Given the description of an element on the screen output the (x, y) to click on. 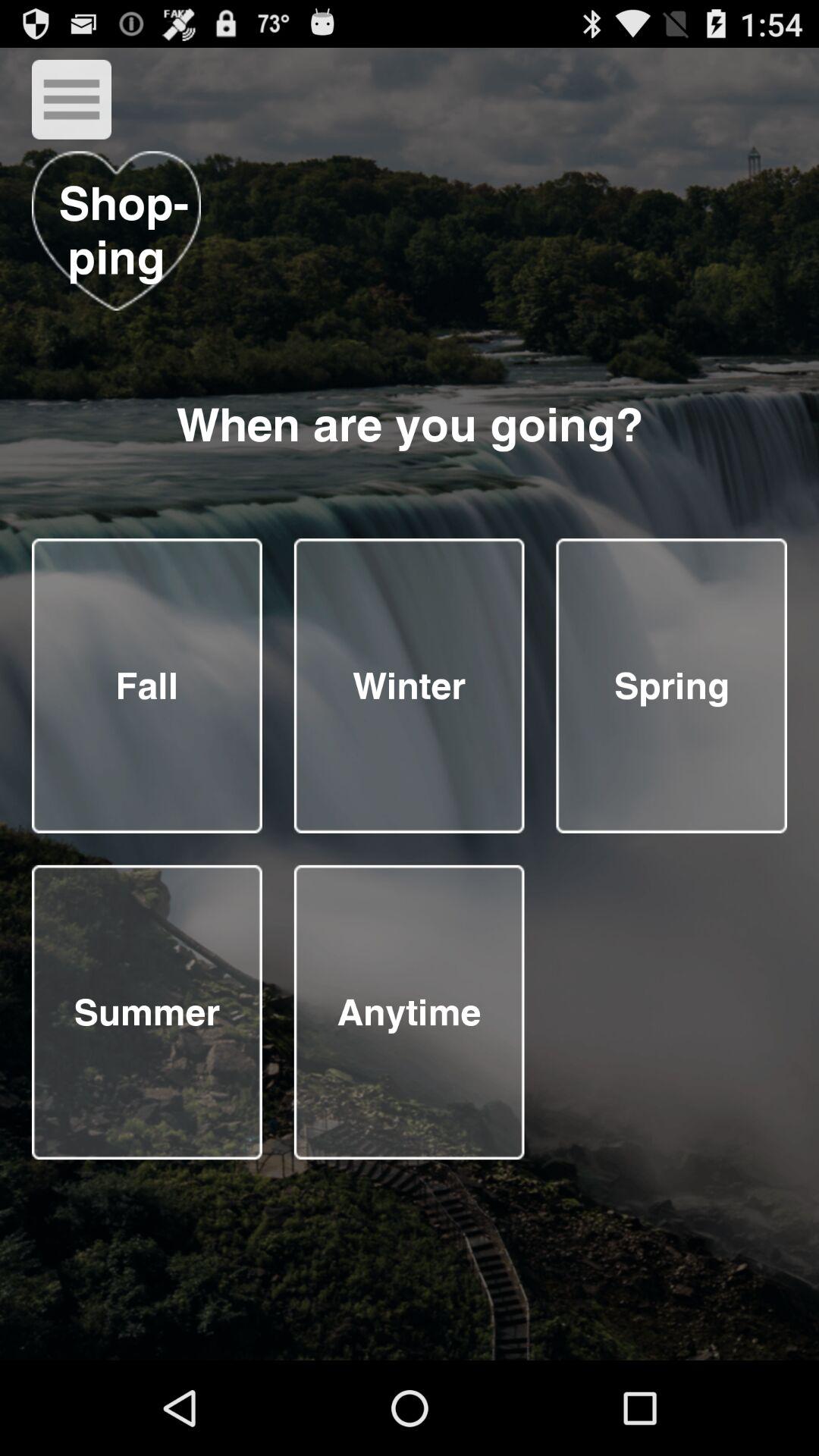
select spring season (671, 685)
